Given the description of an element on the screen output the (x, y) to click on. 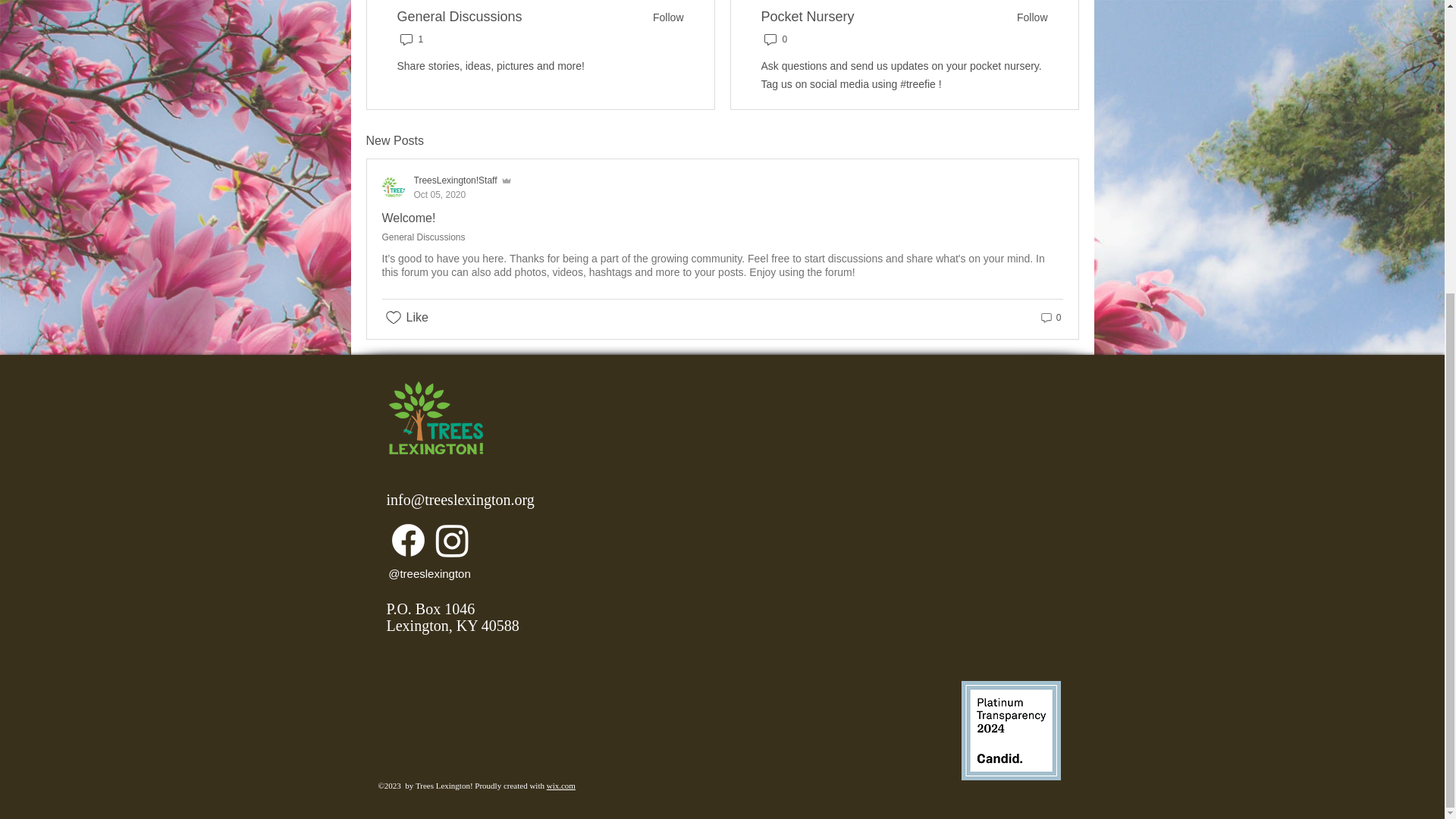
Welcome! (408, 217)
Follow (662, 16)
Follow (1026, 16)
Pocket Nursery (807, 16)
candid-seal-gold-2023.png (446, 186)
General Discussions (1010, 730)
0 (459, 16)
